Given the description of an element on the screen output the (x, y) to click on. 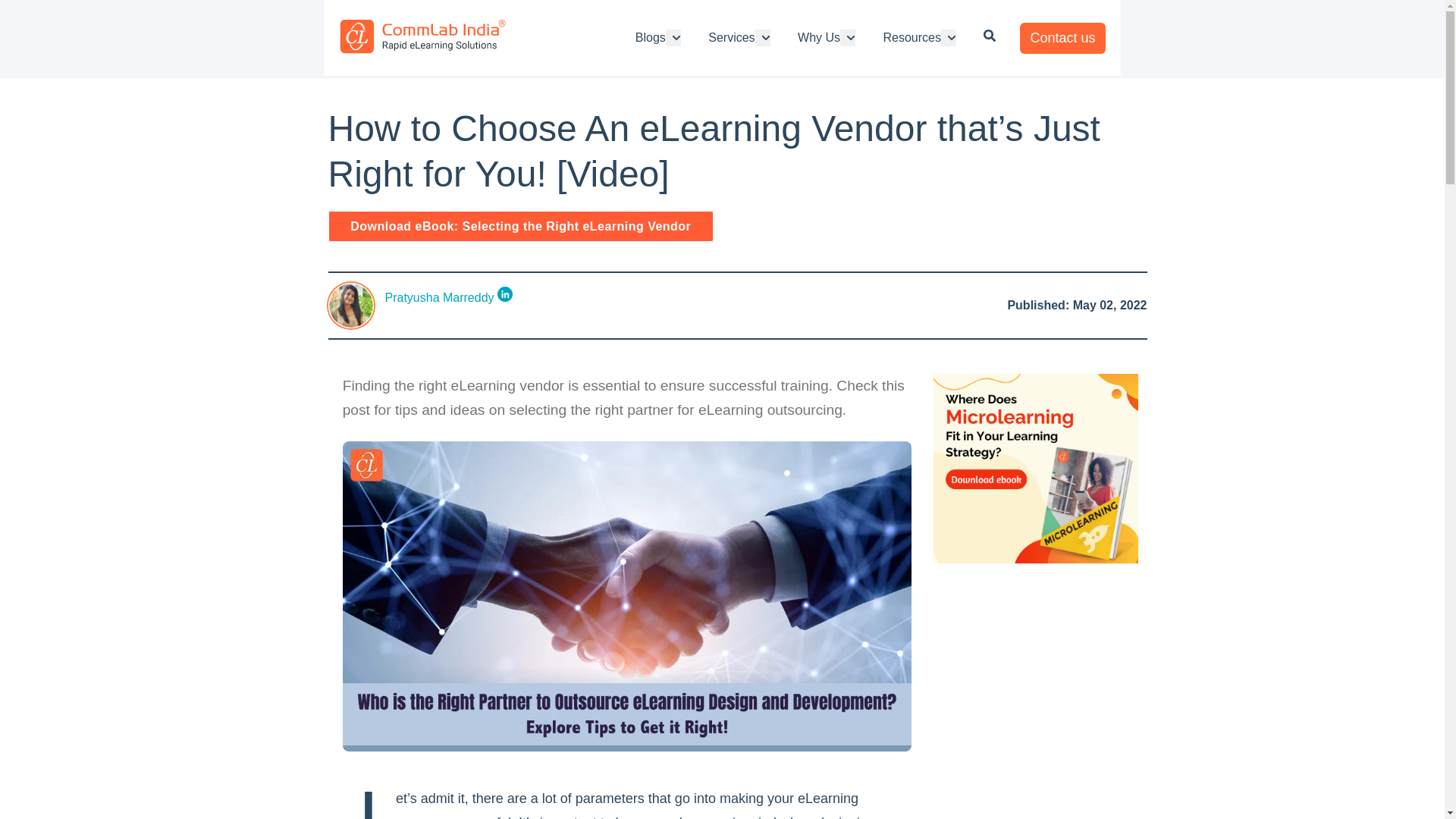
Show submenu for Blogs (673, 37)
Services (730, 37)
Blogs (649, 37)
Resources (911, 37)
Show submenu for Services (762, 37)
Microlearning 101 (1035, 558)
Why Us (818, 37)
Show submenu for Resources (948, 37)
Show submenu for Why Us (848, 37)
Download eBook: Selecting the Right eLearning Vendor (520, 225)
